Given the description of an element on the screen output the (x, y) to click on. 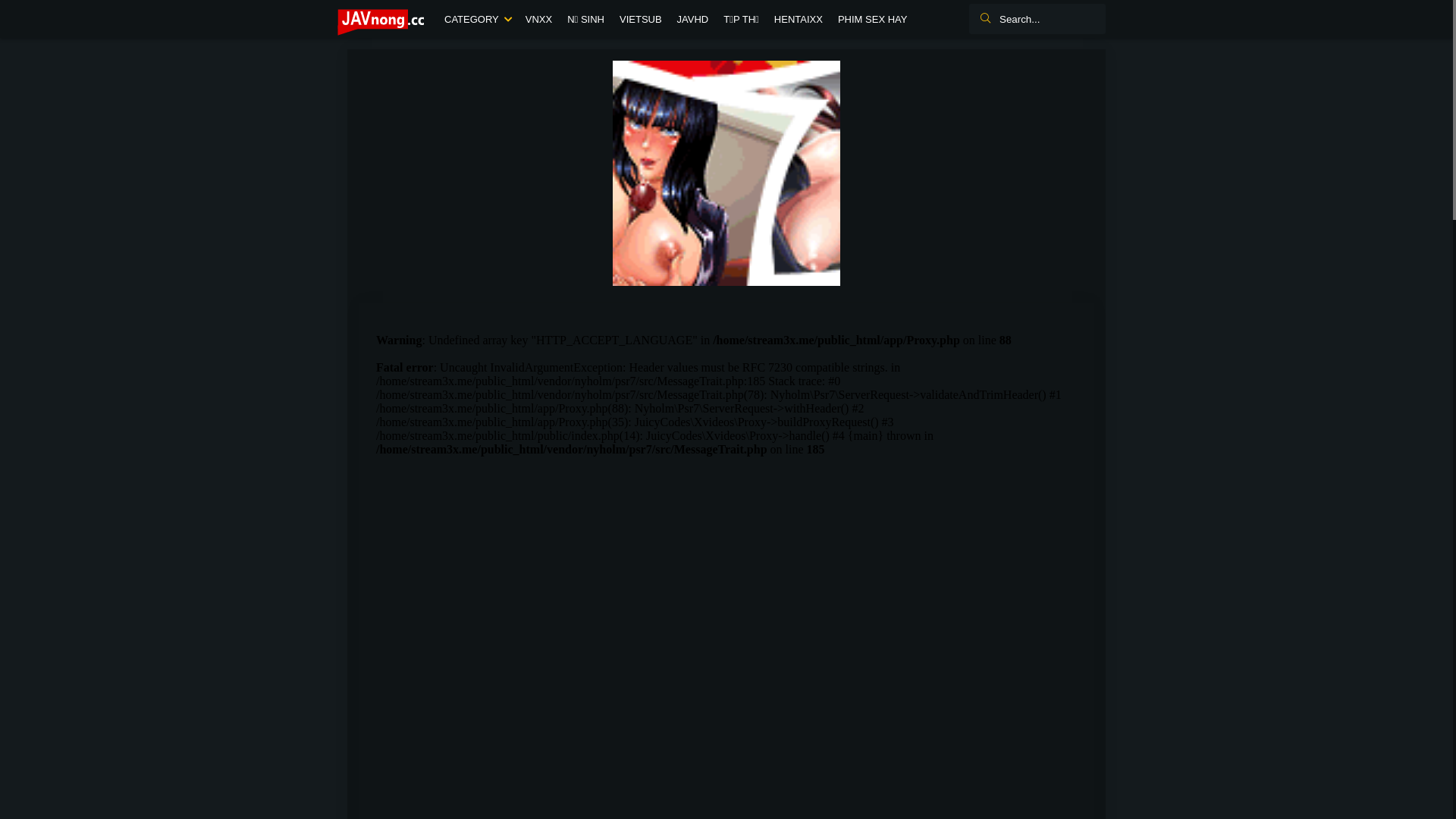
HENTAIXX Element type: text (798, 19)
VNXX Element type: text (538, 19)
CATEGORY Element type: text (476, 19)
VIETSUB Element type: text (640, 19)
PHIM SEX HAY Element type: text (872, 19)
JAVHD Element type: text (692, 19)
